Given the description of an element on the screen output the (x, y) to click on. 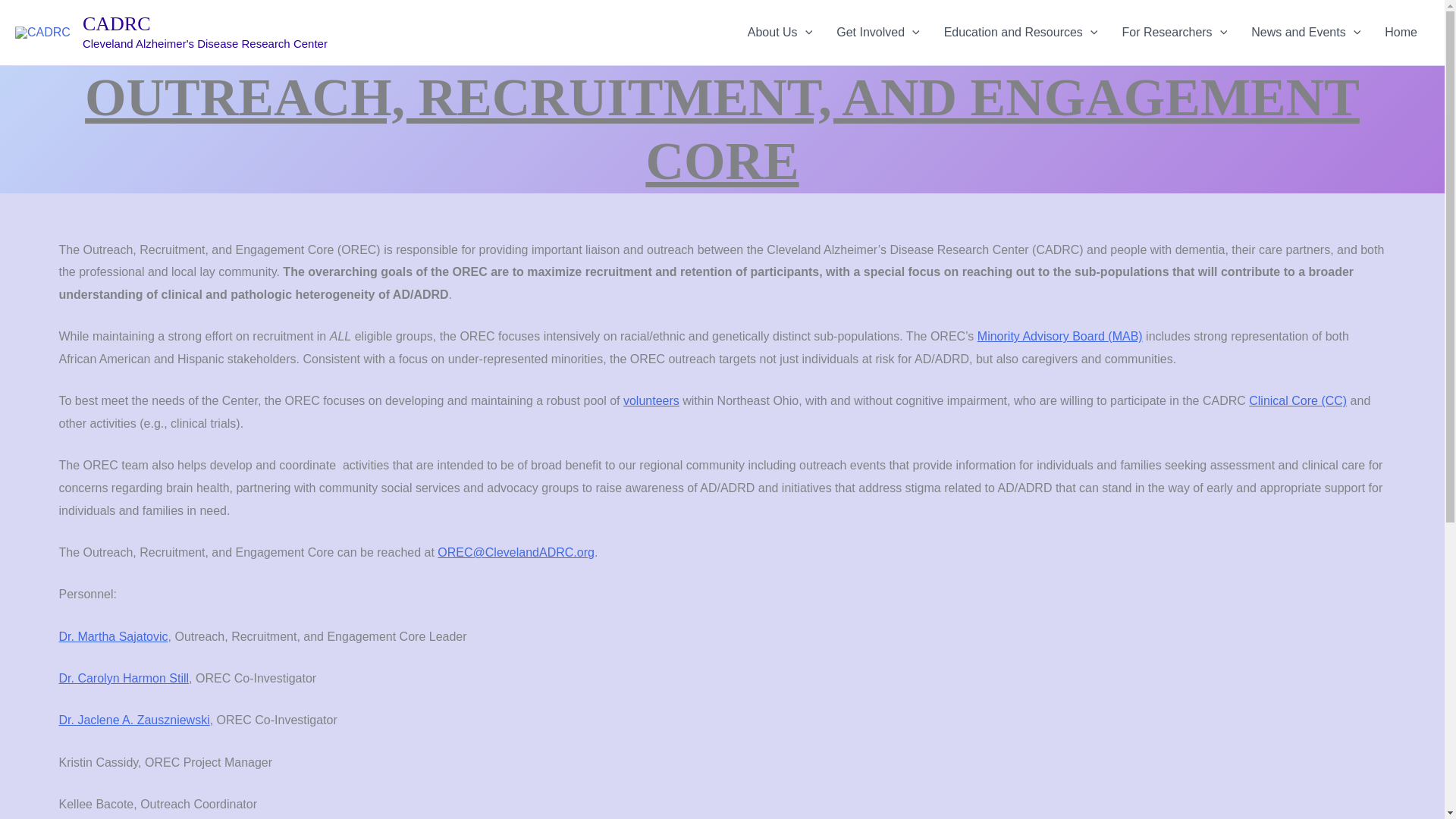
Home (1401, 32)
CADRC (116, 24)
For Researchers (1174, 32)
About Us (779, 32)
Education and Resources (1020, 32)
Get Involved (877, 32)
News and Events (1306, 32)
